Given the description of an element on the screen output the (x, y) to click on. 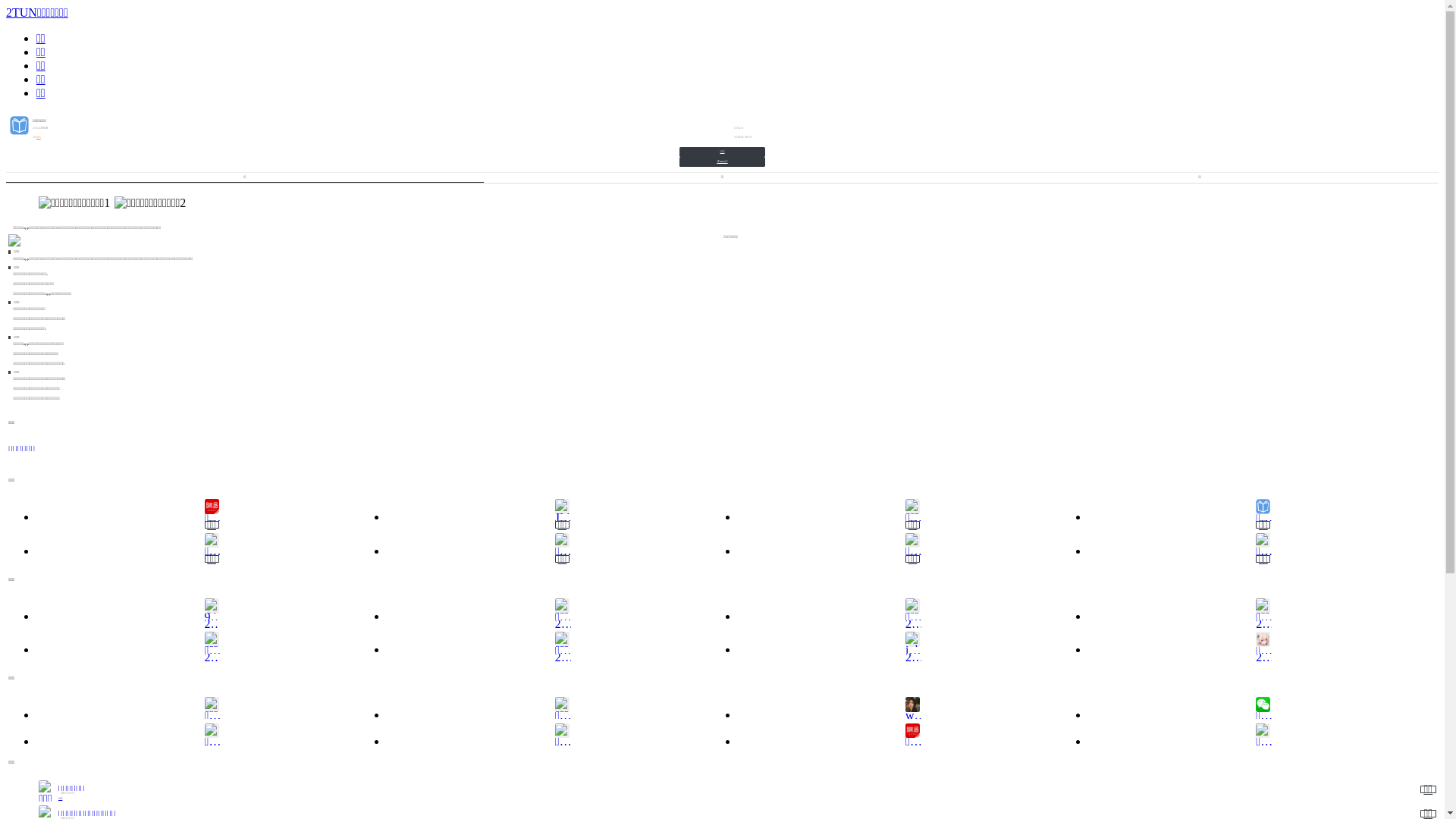
inkitt
2023-11-25 Element type: text (912, 645)
